Given the description of an element on the screen output the (x, y) to click on. 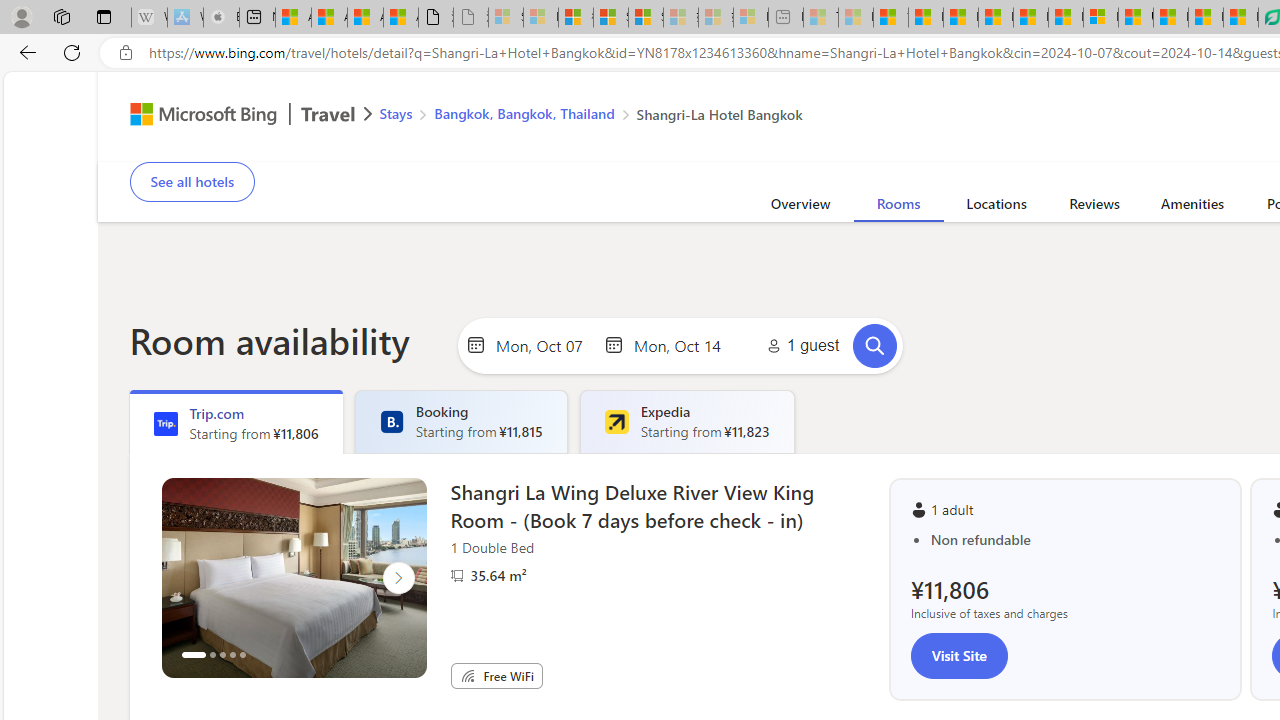
Booking (391, 421)
+12 More Amenities (1101, 161)
Rooms (898, 207)
Stays (395, 112)
Aberdeen, Hong Kong SAR severe weather | Microsoft Weather (401, 17)
Click to scroll right (397, 578)
